Given the description of an element on the screen output the (x, y) to click on. 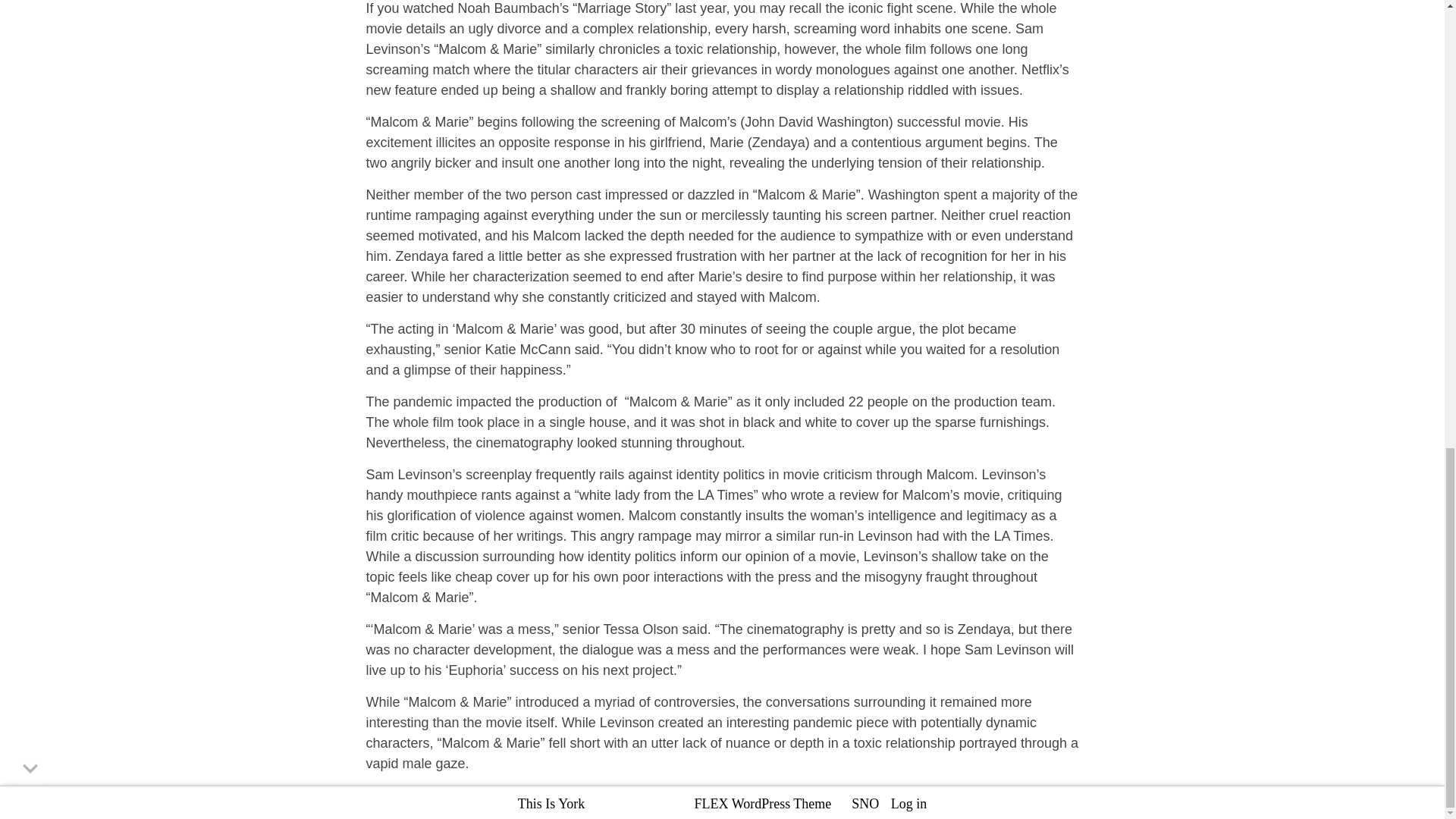
FLEX WordPress Theme (762, 803)
Log in (909, 803)
This Is York (551, 803)
SNO (865, 803)
